Given the description of an element on the screen output the (x, y) to click on. 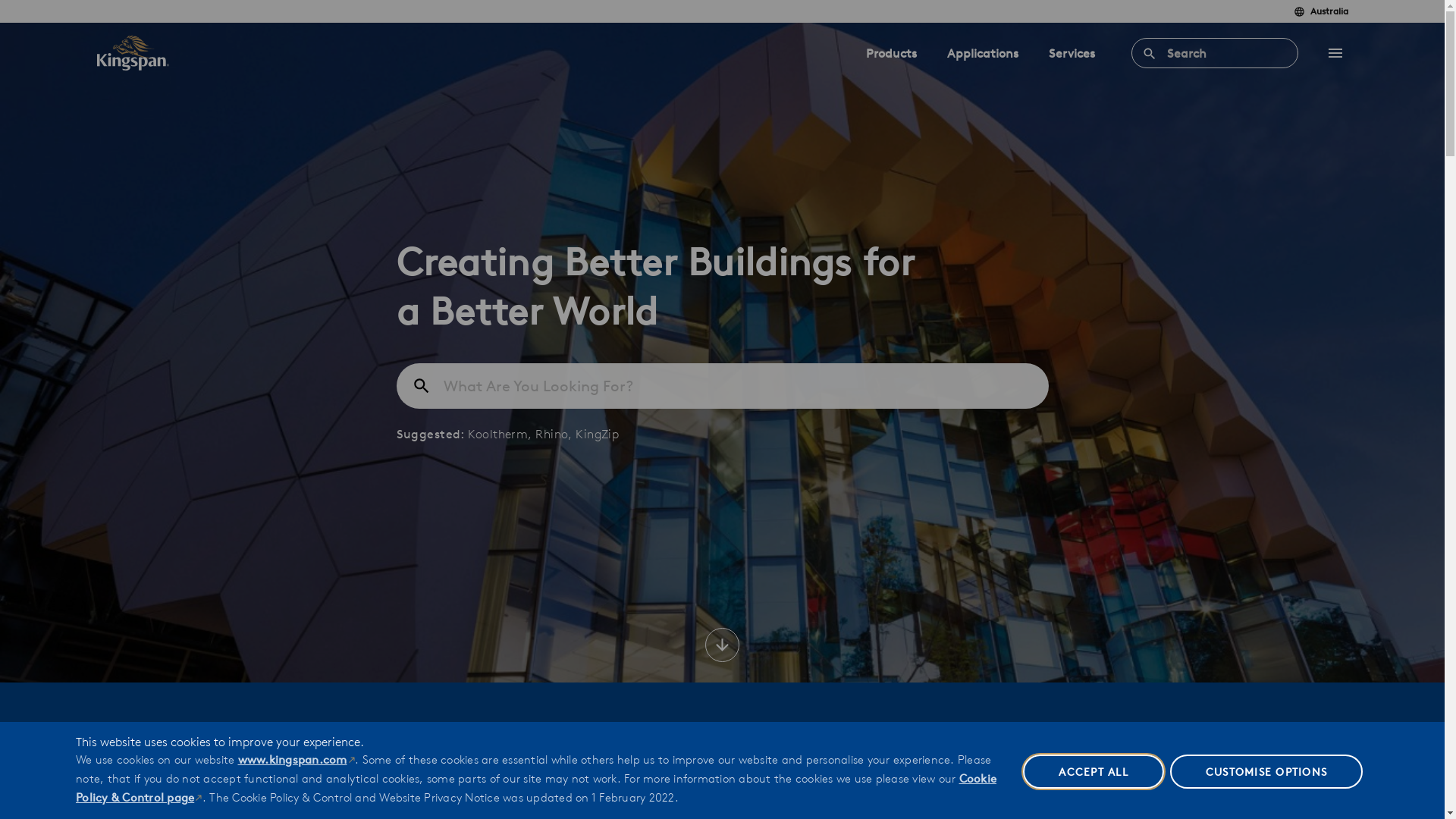
CUSTOMISE OPTIONS Element type: text (1266, 771)
KingZip Element type: text (596, 433)
Rhino, Element type: text (555, 433)
Services Element type: text (1071, 52)
ACCEPT ALL Element type: text (1093, 771)
Search Element type: text (1214, 52)
www.kingspan.com Element type: text (296, 759)
Kooltherm, Element type: text (501, 433)
Australia Element type: text (1320, 11)
Products Element type: text (891, 52)
Applications Element type: text (981, 52)
Cookie Policy & Control page Element type: text (535, 787)
What Are You Looking For? Element type: text (721, 385)
